Given the description of an element on the screen output the (x, y) to click on. 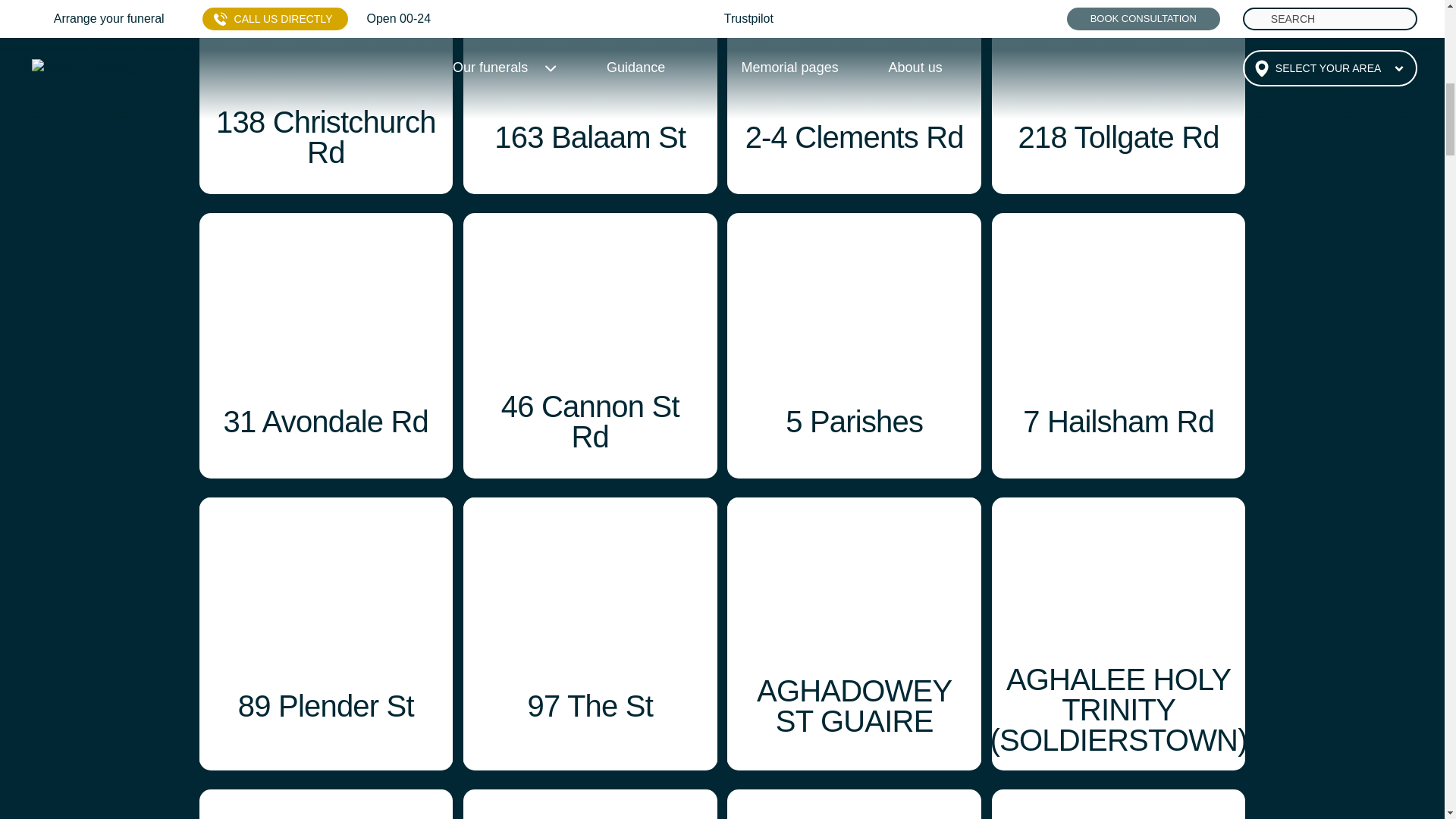
163 Balaam St (590, 97)
46 Cannon St Rd (590, 345)
138 Christchurch Rd (325, 97)
218 Tollgate Rd (1118, 97)
2-4 Clements Rd (853, 97)
97 The St (590, 629)
5 Parishes (853, 345)
7 Hailsham Rd (1118, 345)
89 Plender St (325, 629)
31 Avondale Rd (325, 345)
